Given the description of an element on the screen output the (x, y) to click on. 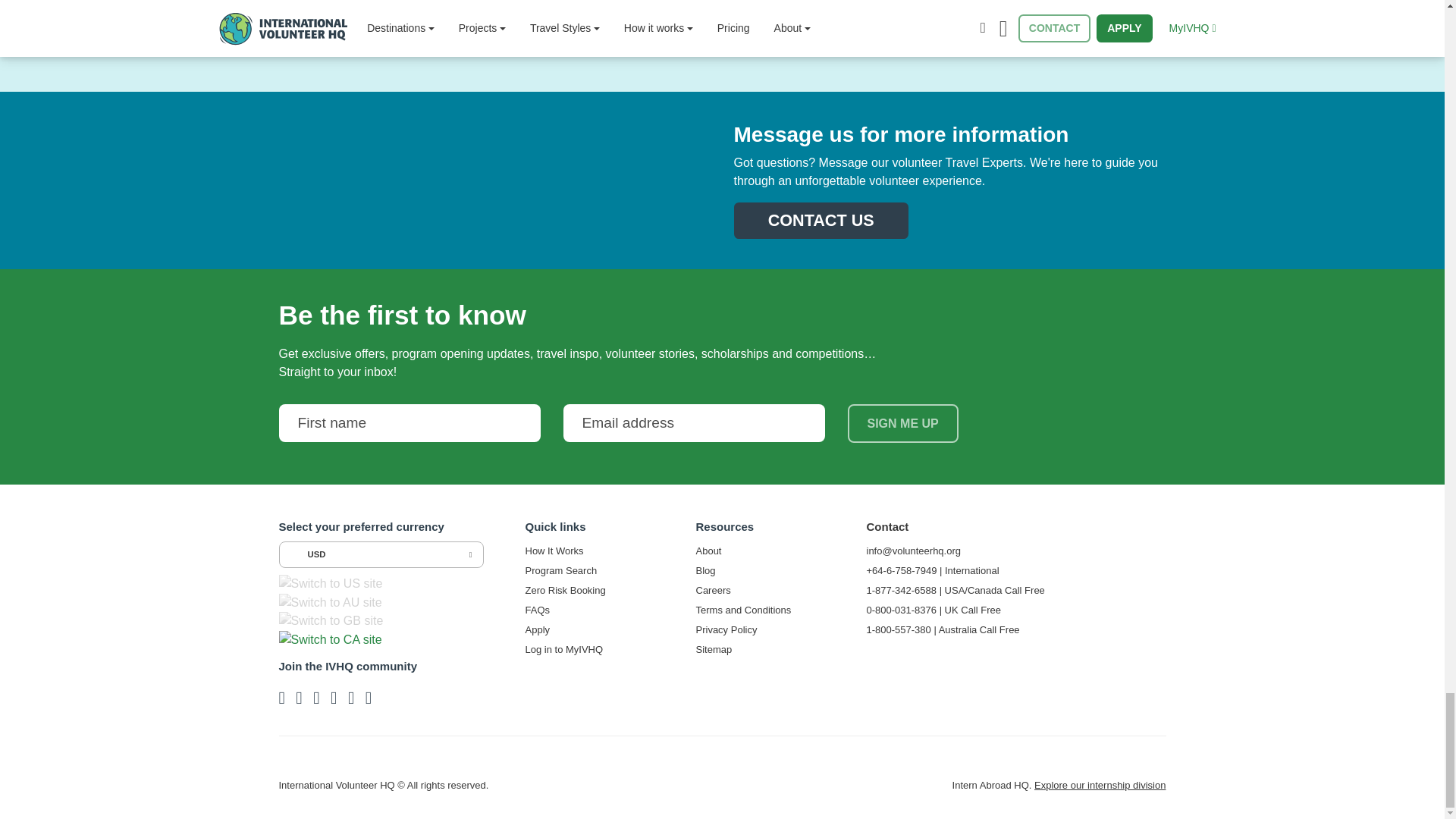
First name (409, 423)
Email (693, 423)
